Given the description of an element on the screen output the (x, y) to click on. 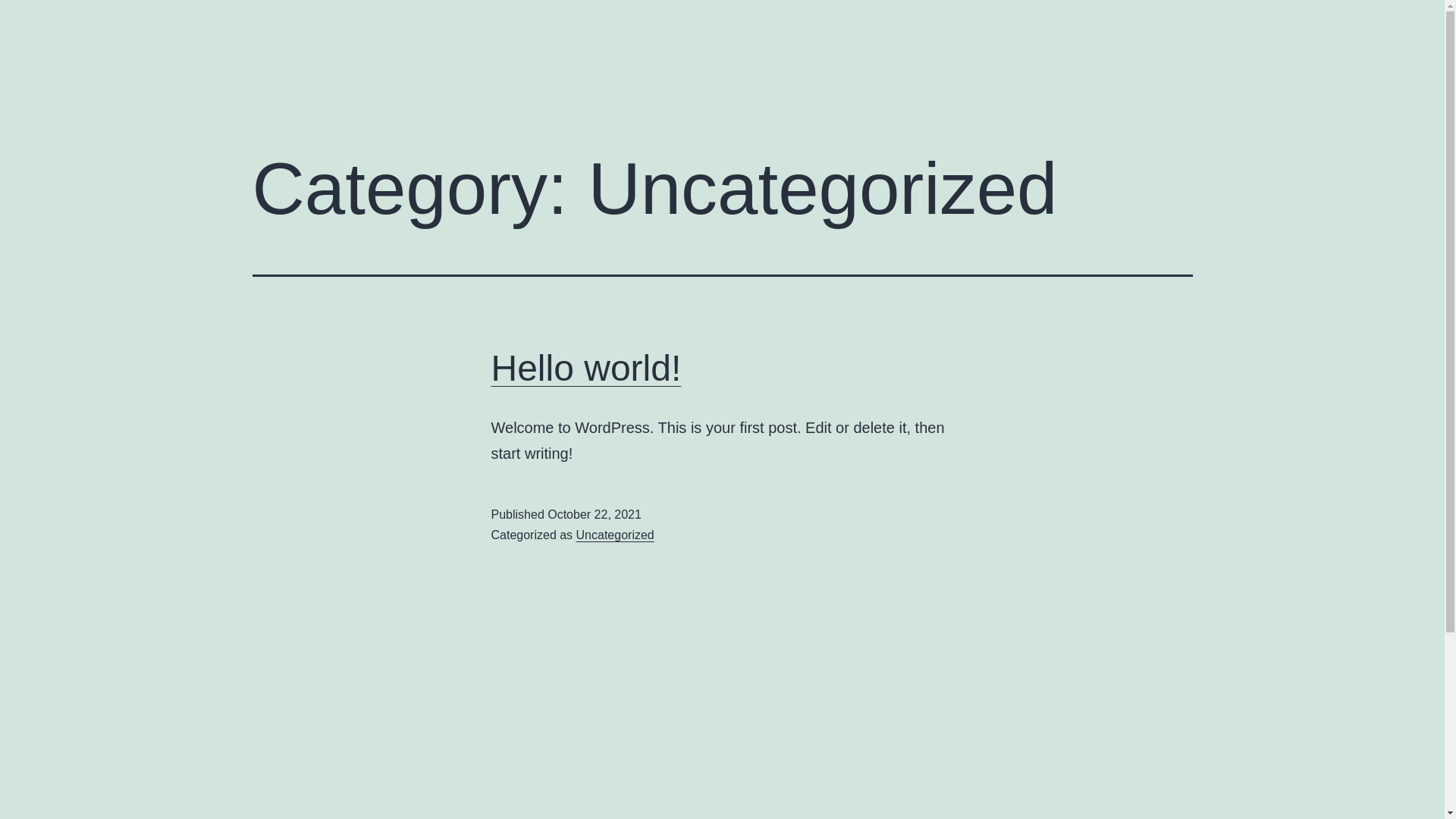
Hello world! Element type: text (586, 368)
Uncategorized Element type: text (615, 534)
